Given the description of an element on the screen output the (x, y) to click on. 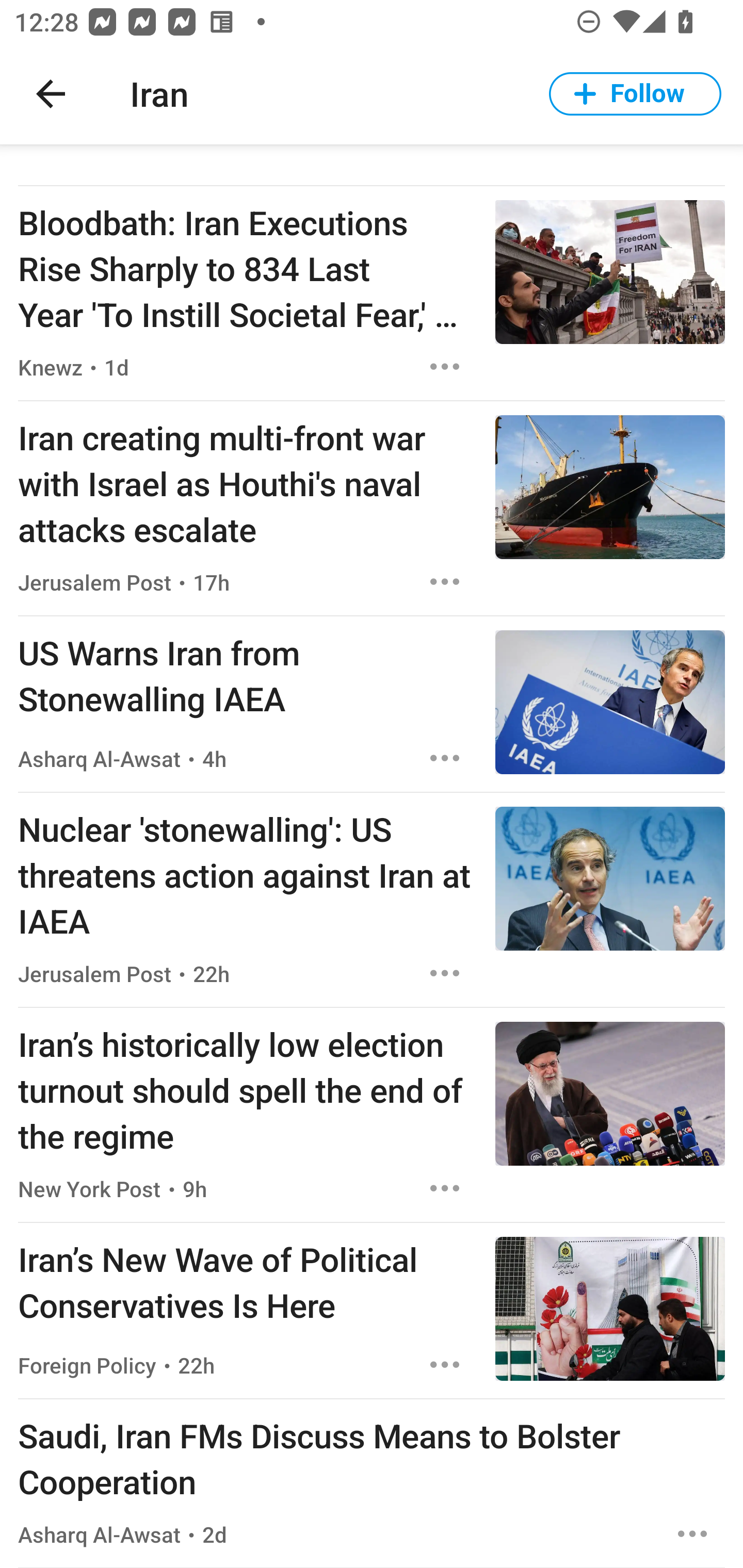
Navigate up (50, 93)
Follow (635, 94)
Options (444, 366)
Options (444, 581)
Options (444, 757)
Options (444, 973)
Options (444, 1188)
Options (444, 1364)
Options (692, 1533)
